Given the description of an element on the screen output the (x, y) to click on. 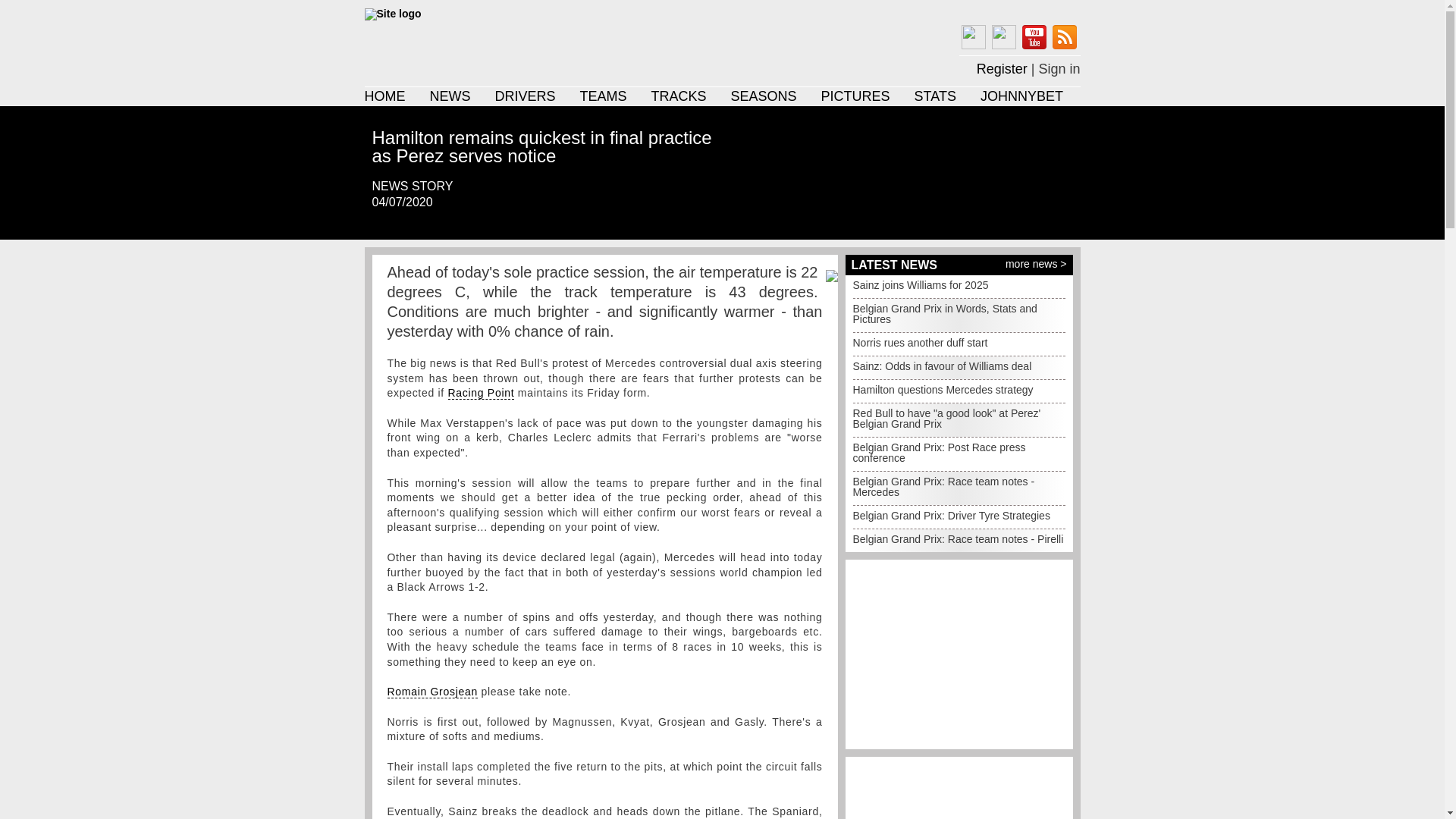
Click here for the home page (496, 44)
Post this to Facebook (377, 224)
Sign in (1059, 65)
NEWS (449, 96)
Register (1001, 65)
HOME (384, 96)
DRIVERS (524, 96)
Post this to Twitter (395, 224)
